Given the description of an element on the screen output the (x, y) to click on. 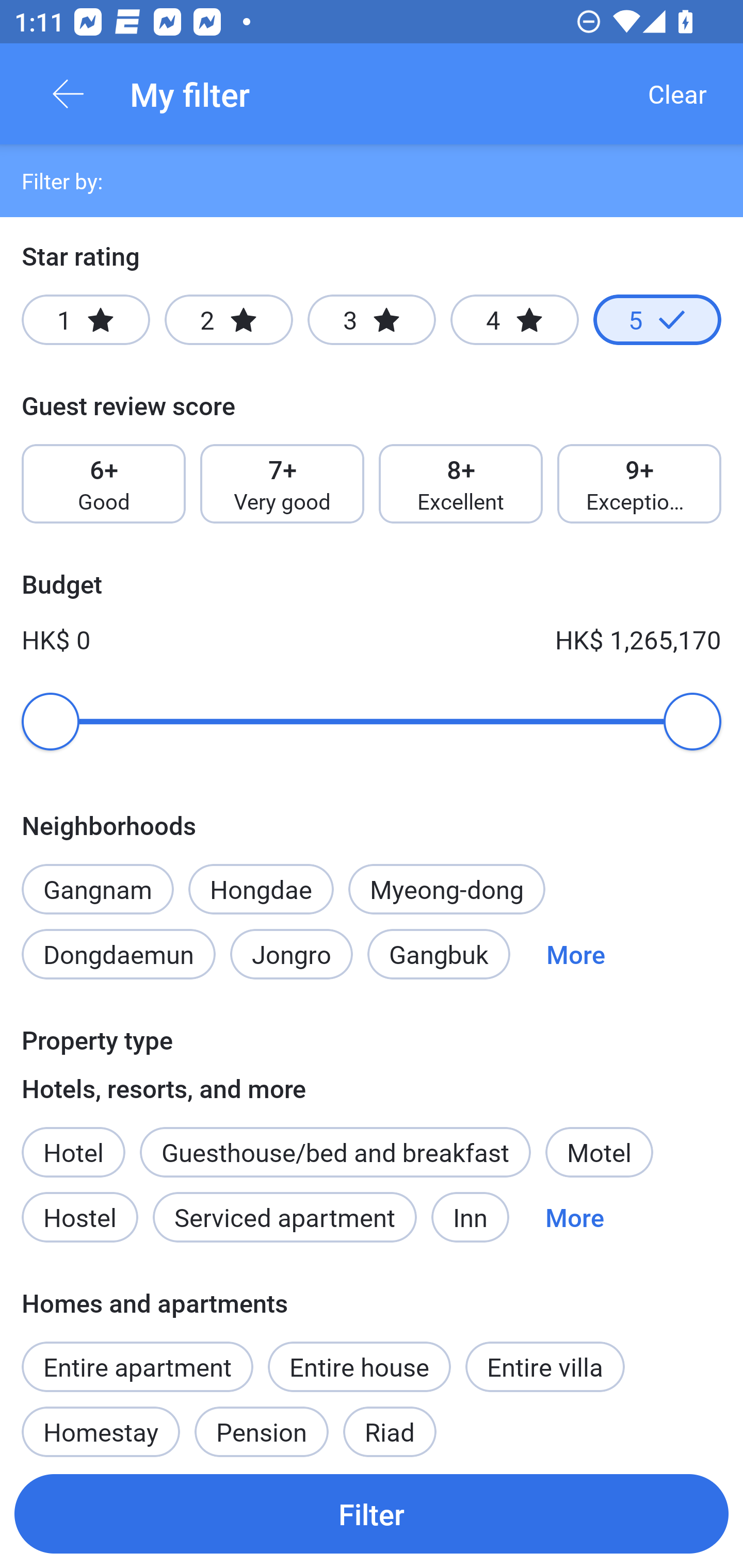
Clear (676, 93)
1 (85, 319)
2 (228, 319)
3 (371, 319)
4 (514, 319)
6+ Good (103, 483)
7+ Very good (281, 483)
8+ Excellent (460, 483)
9+ Exceptional (639, 483)
Gangnam (97, 878)
Hongdae (260, 888)
Myeong-dong (446, 888)
Dongdaemun (118, 954)
Jongro (291, 954)
Gangbuk (438, 954)
More (575, 954)
Hotel (73, 1141)
Guesthouse/bed and breakfast (335, 1151)
Motel (599, 1151)
Hostel (79, 1217)
Serviced apartment (284, 1217)
Inn (470, 1217)
More (574, 1217)
Entire apartment (137, 1366)
Entire house (359, 1366)
Entire villa (544, 1366)
Homestay (100, 1424)
Pension (261, 1424)
Riad (389, 1424)
Filter (371, 1513)
